Given the description of an element on the screen output the (x, y) to click on. 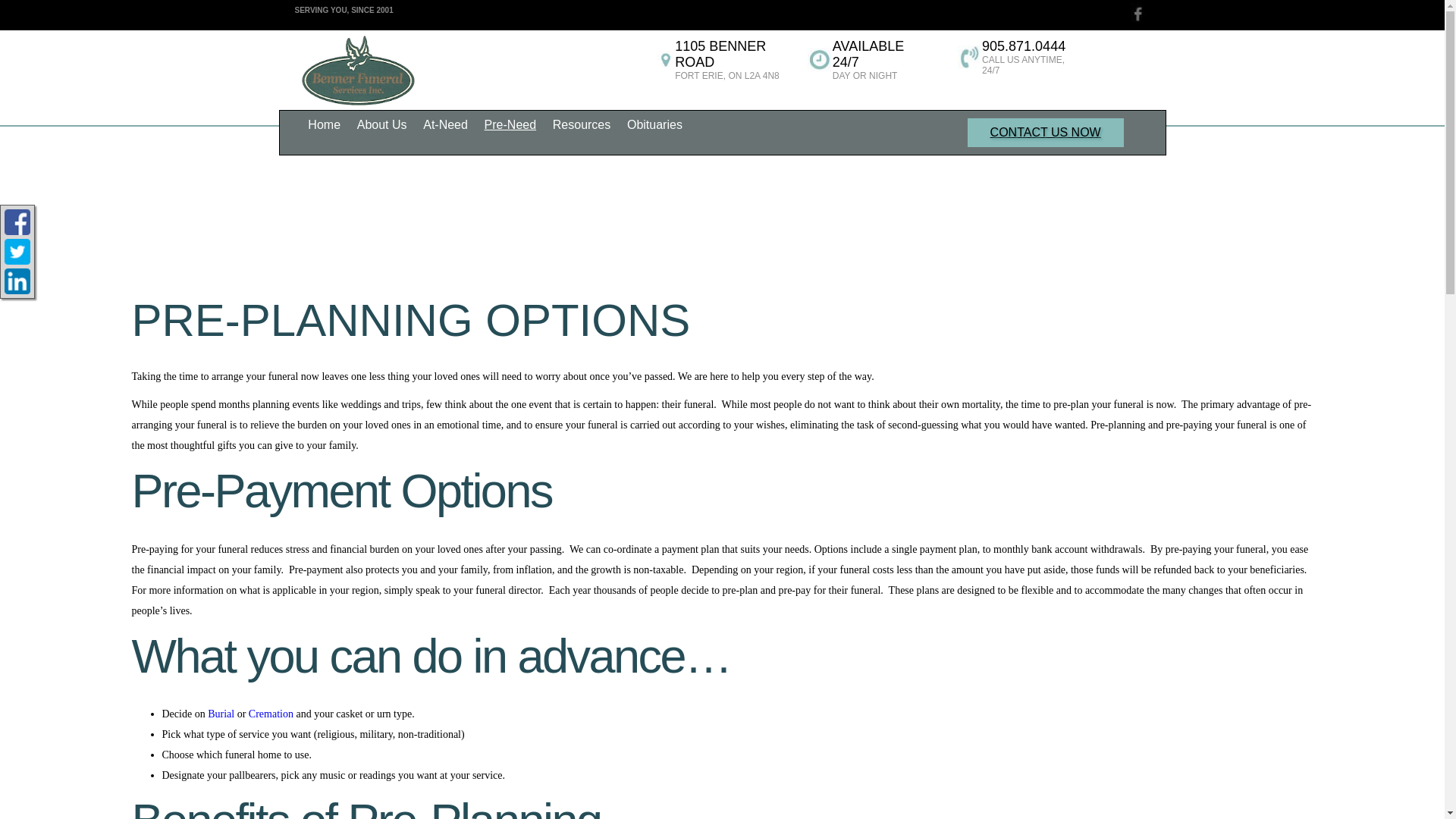
About Us (381, 124)
At-Need (446, 124)
CONTACT US NOW (1045, 133)
Pre-Need (510, 124)
Obituaries (654, 124)
Contact Us (1045, 133)
Cremation (271, 713)
Resources (580, 124)
Burial (221, 713)
Home (324, 124)
